Given the description of an element on the screen output the (x, y) to click on. 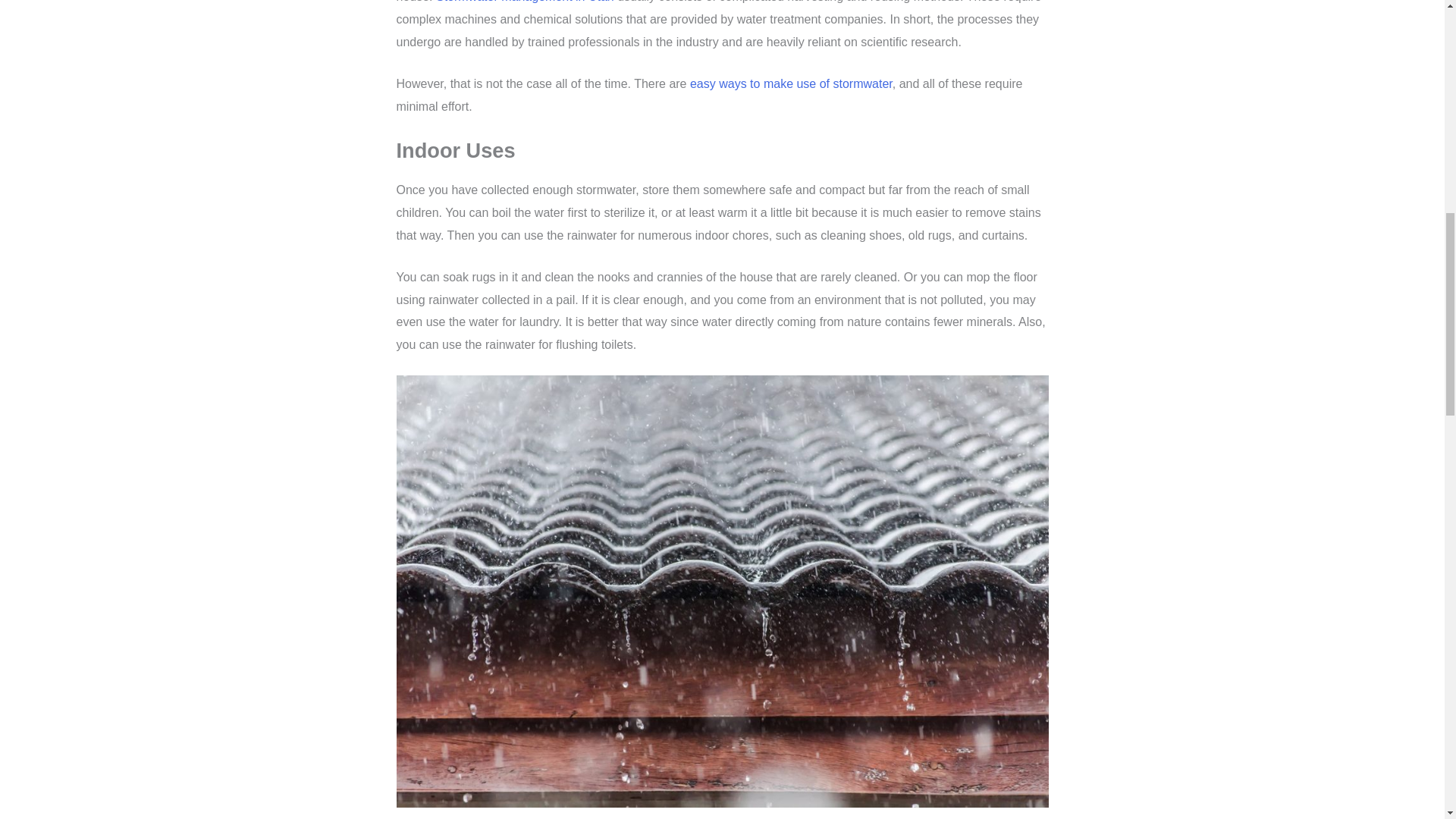
Untumble.com (791, 83)
easy ways to make use of stormwater (791, 83)
Stormwater management in Utah (524, 1)
Erosion Control Services (524, 1)
